Given the description of an element on the screen output the (x, y) to click on. 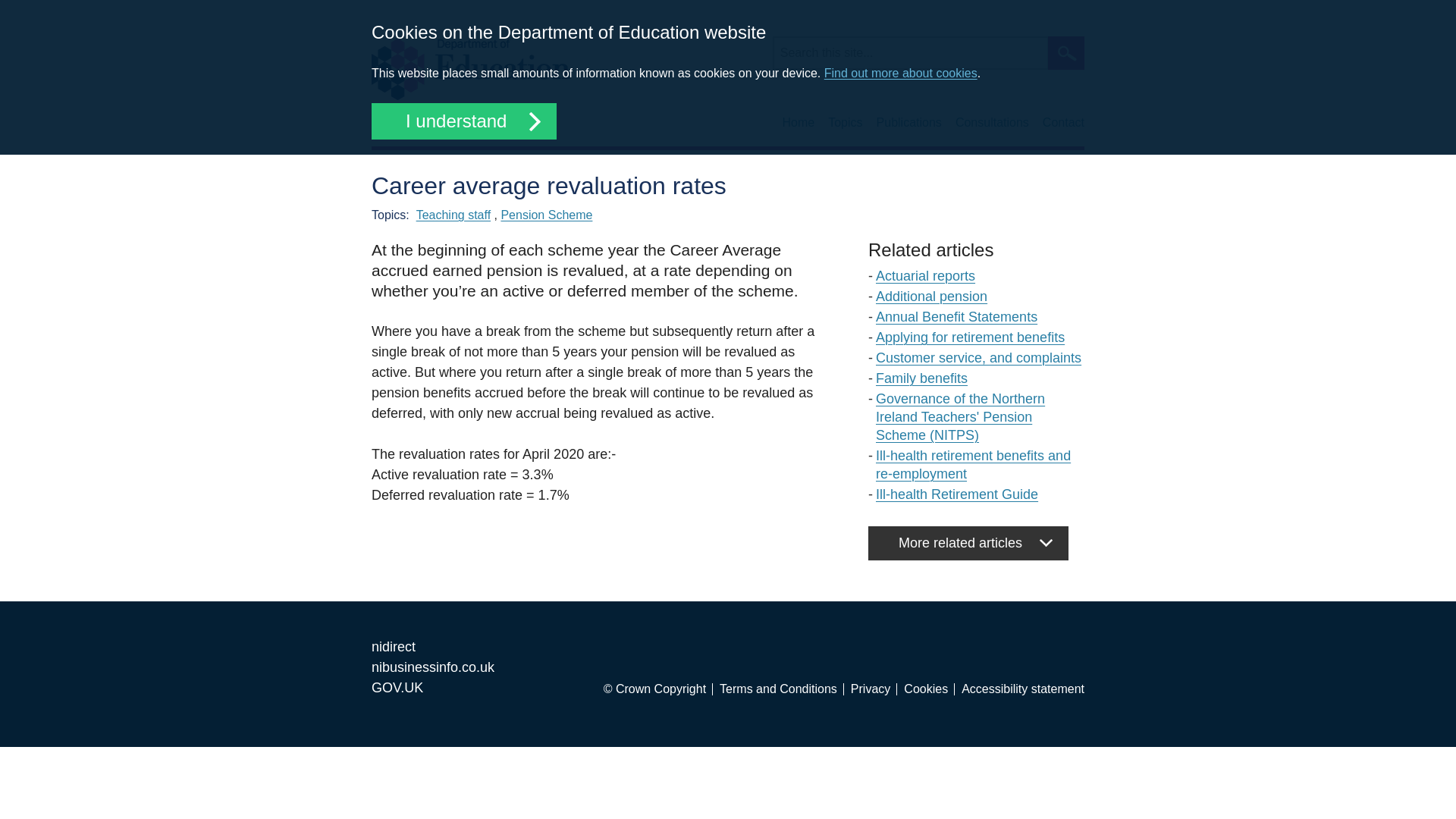
Teaching staff (453, 214)
Additional pension (931, 296)
Customer service, and complaints (978, 357)
Annual Benefit Statements (956, 316)
Home (799, 122)
I understand (463, 121)
Search (1066, 52)
Actuarial reports (925, 275)
Find out more about cookies (900, 72)
Topics (844, 122)
